Given the description of an element on the screen output the (x, y) to click on. 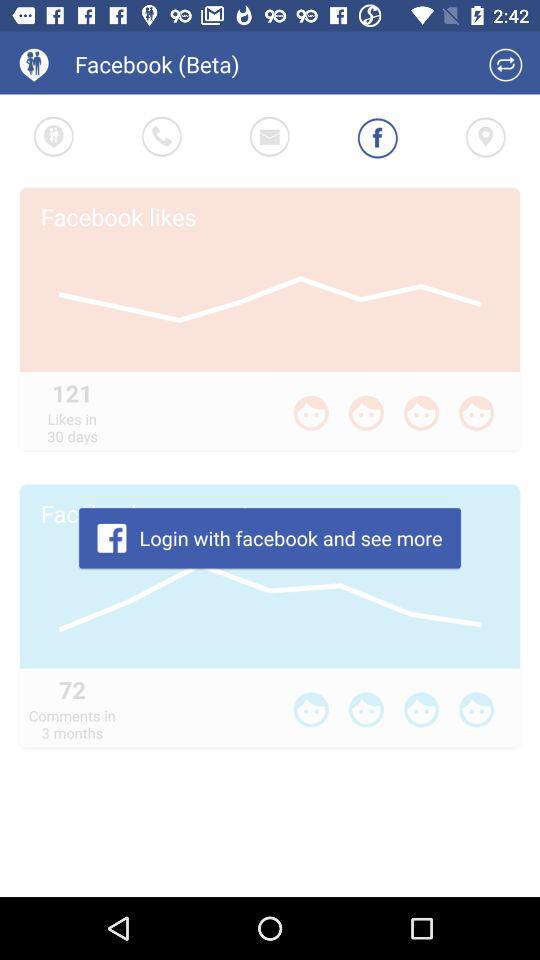
refresh (505, 64)
